Given the description of an element on the screen output the (x, y) to click on. 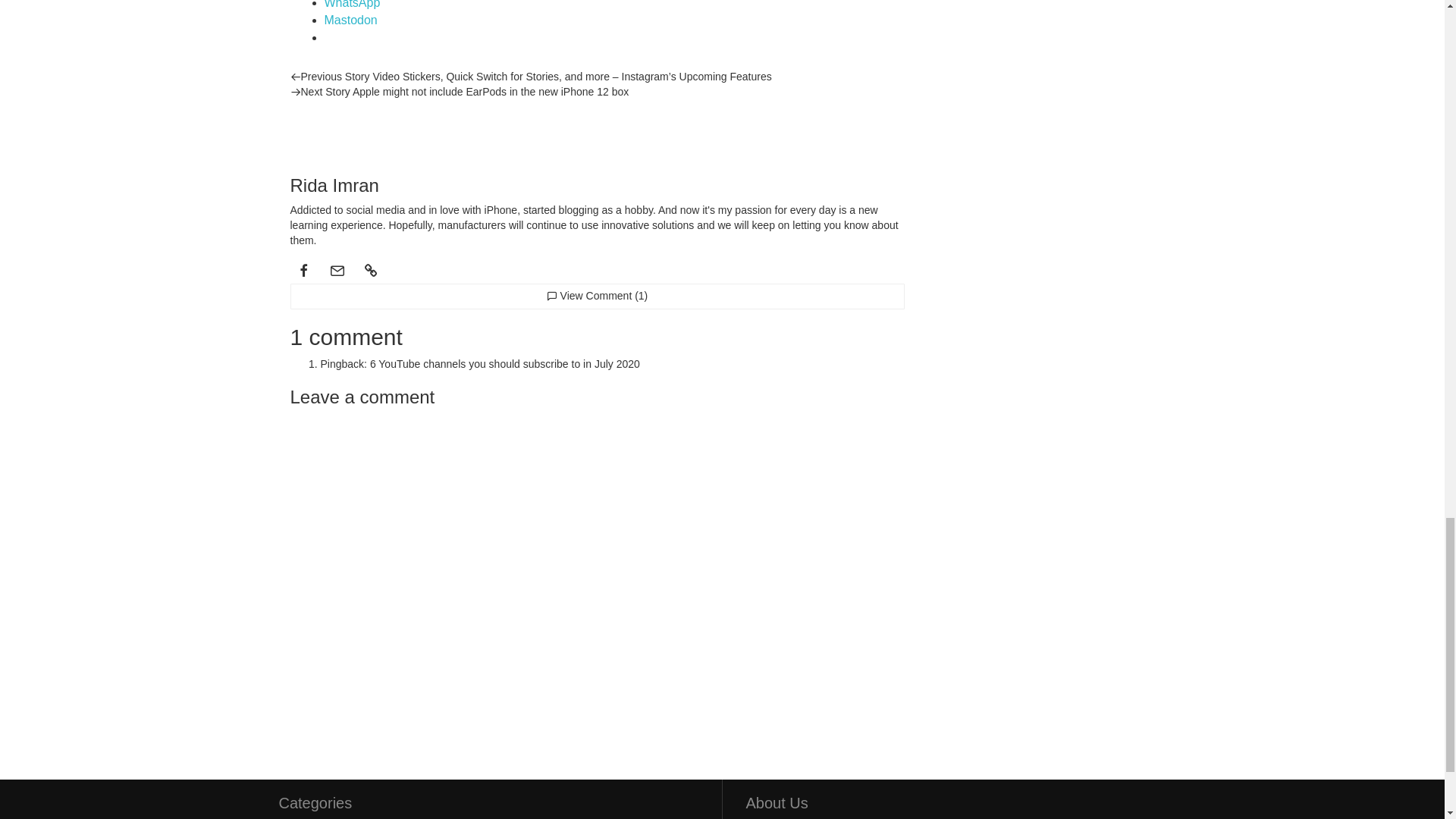
Click to share on WhatsApp (352, 4)
Click to share on Mastodon (350, 19)
Rida Imran (319, 128)
